Given the description of an element on the screen output the (x, y) to click on. 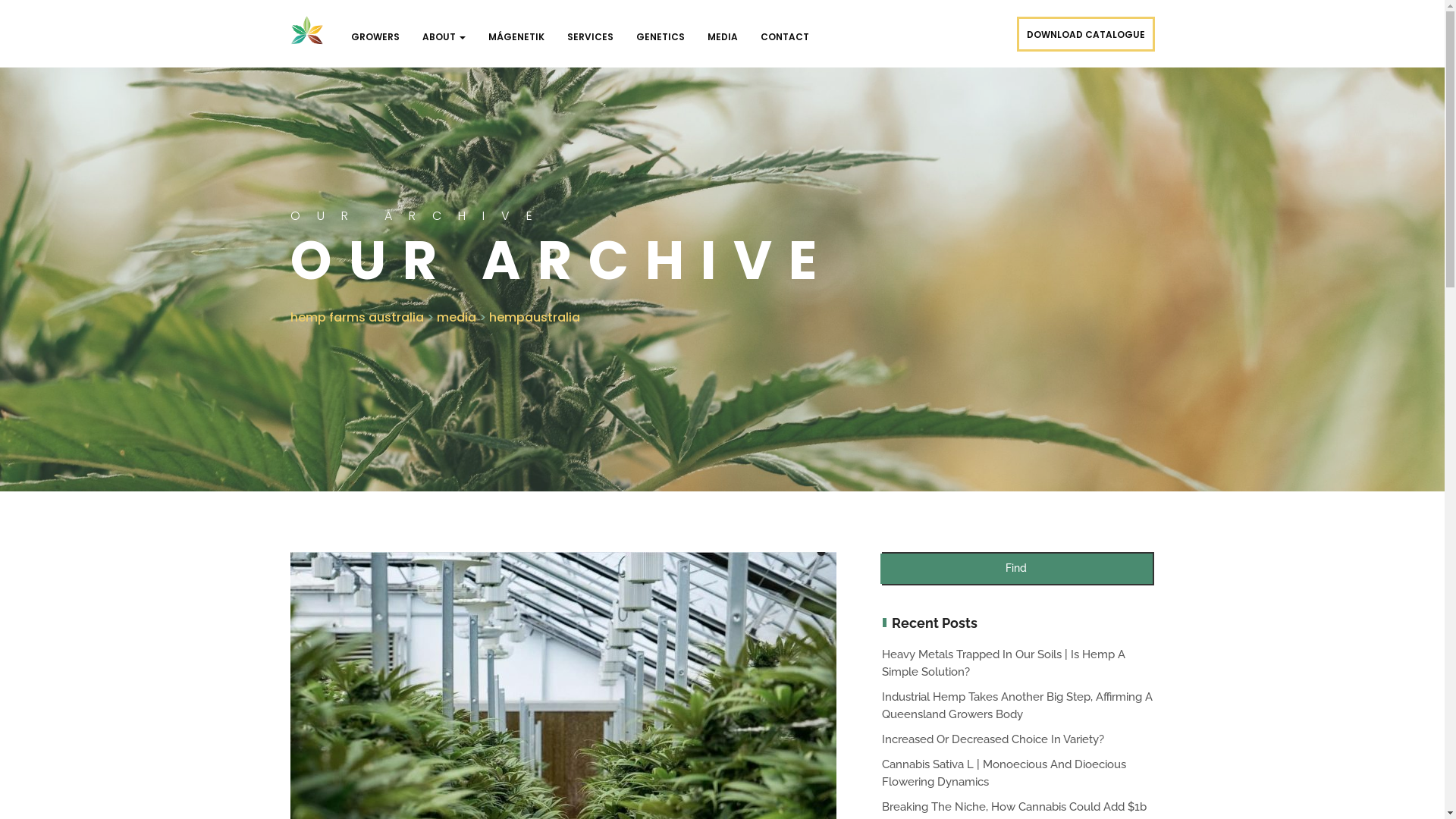
SERVICES Element type: text (589, 36)
MEDIA Element type: text (722, 36)
hemp farms australia Element type: text (356, 317)
GROWERS Element type: text (375, 36)
DOWNLOAD CATALOGUE Element type: text (1085, 33)
CONTACT Element type: text (784, 36)
Find Element type: text (1015, 568)
GENETICS Element type: text (660, 36)
media Element type: text (456, 317)
Increased Or Decreased Choice In Variety? Element type: text (992, 739)
ABOUT Element type: text (443, 36)
